Given the description of an element on the screen output the (x, y) to click on. 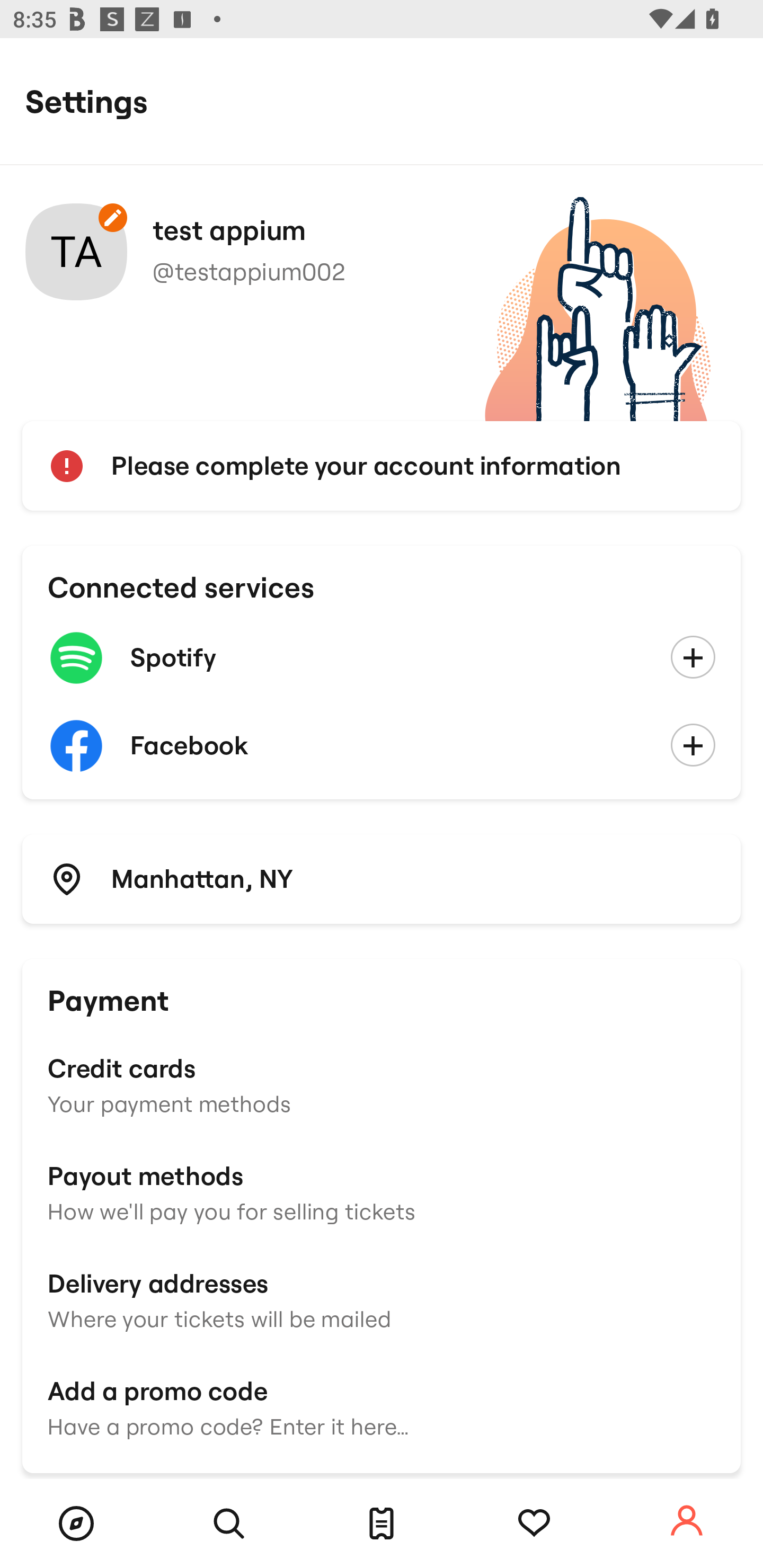
Your account photo (76, 252)
Please complete your account information (381, 466)
Spotify (381, 658)
Facebook (381, 746)
Manhattan, NY (381, 878)
Credit cards Your payment methods (381, 1084)
Add a promo code Have a promo code? Enter it here… (381, 1406)
Browse (76, 1523)
Search (228, 1523)
Tickets (381, 1523)
Tracking (533, 1523)
Account (686, 1521)
